Given the description of an element on the screen output the (x, y) to click on. 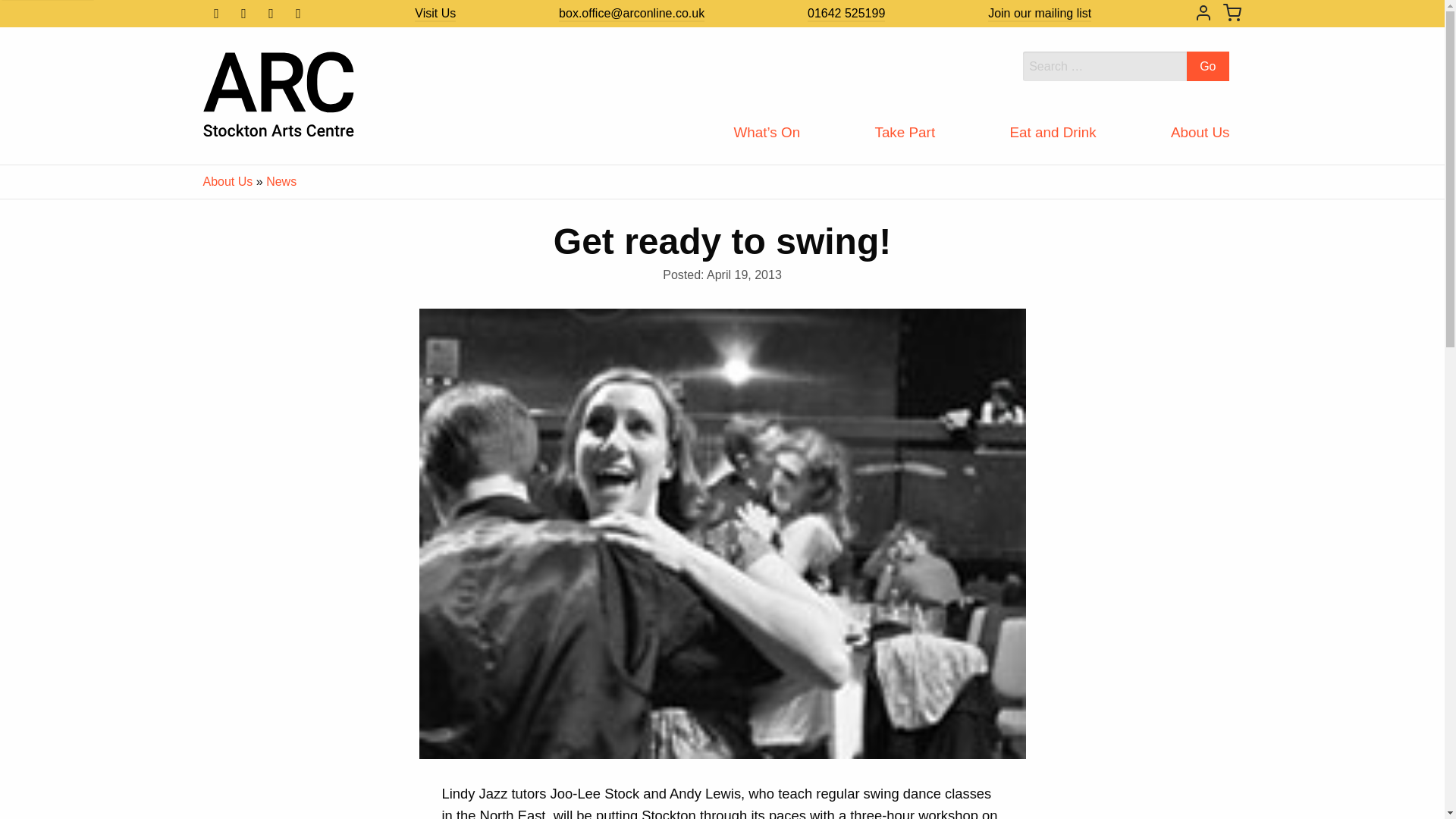
Eat and Drink (1052, 132)
Go (1207, 66)
facebook (216, 13)
Twitter (243, 13)
Take Part (903, 132)
Instagram (271, 13)
YouTube (298, 13)
Visit Us (434, 13)
About Us (1200, 132)
Join our mailing list (1039, 13)
